Given the description of an element on the screen output the (x, y) to click on. 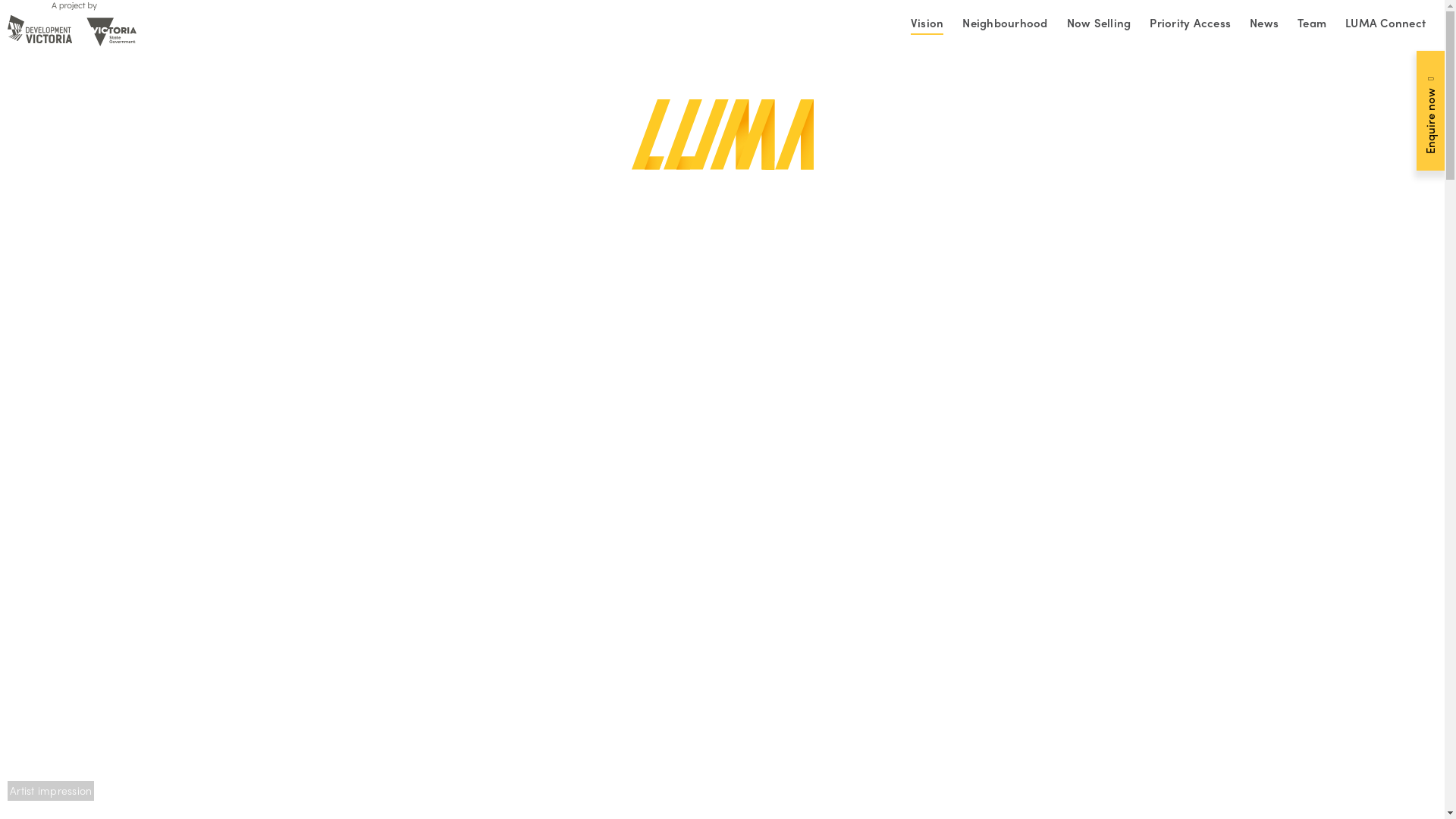
Team Element type: text (1311, 24)
LUMA Connect Element type: text (1385, 24)
News Element type: text (1263, 24)
Vision Element type: text (927, 24)
Neighbourhood Element type: text (1004, 24)
Now Selling Element type: text (1098, 24)
Priority Access Element type: text (1189, 24)
